Given the description of an element on the screen output the (x, y) to click on. 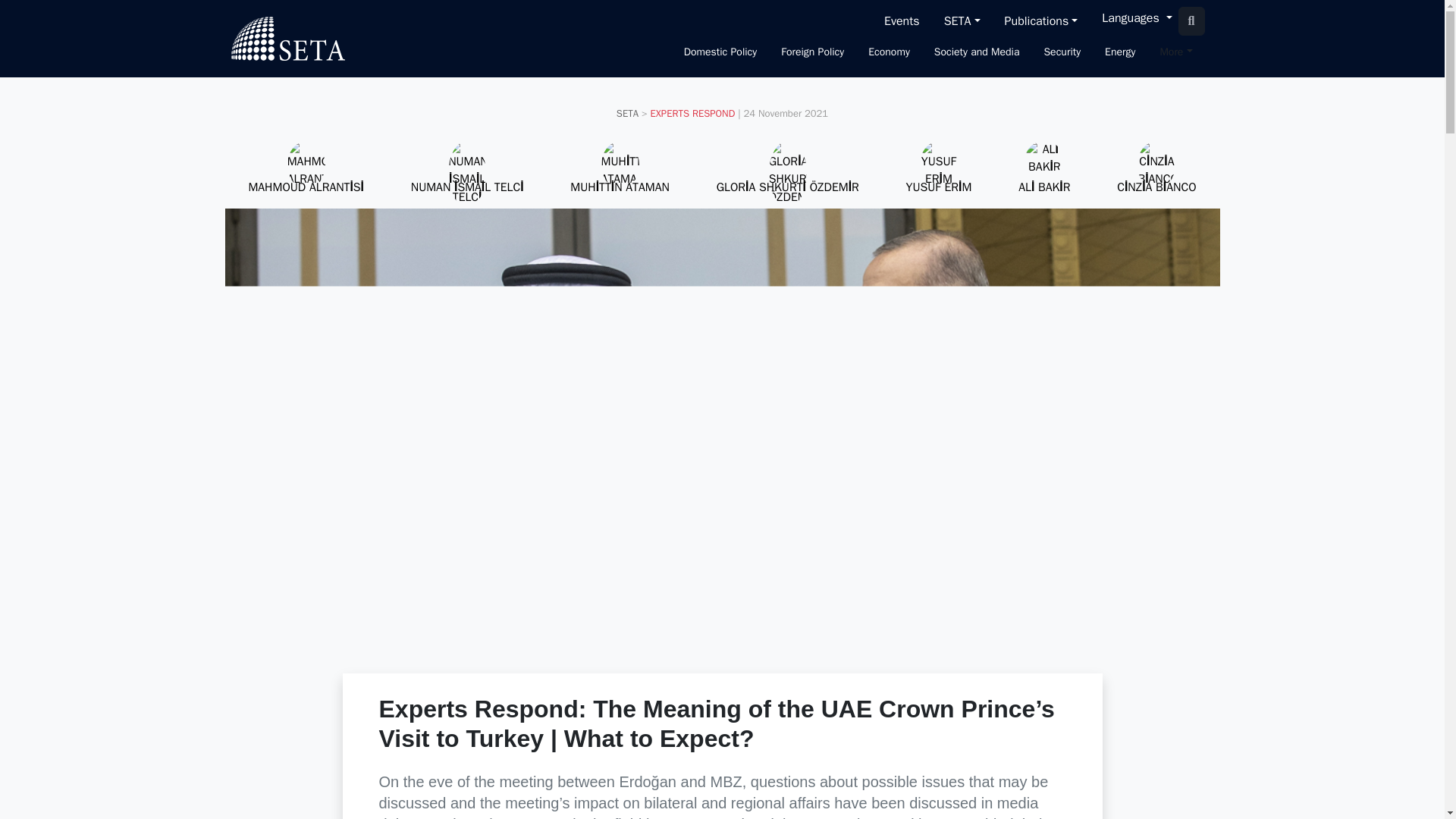
Publications (1041, 20)
Economy (888, 53)
Events (901, 20)
SETA (286, 38)
Society and Media (977, 53)
Economy (888, 53)
More (1175, 53)
Security (1061, 53)
Society and Media (977, 53)
Energy (1120, 53)
